Given the description of an element on the screen output the (x, y) to click on. 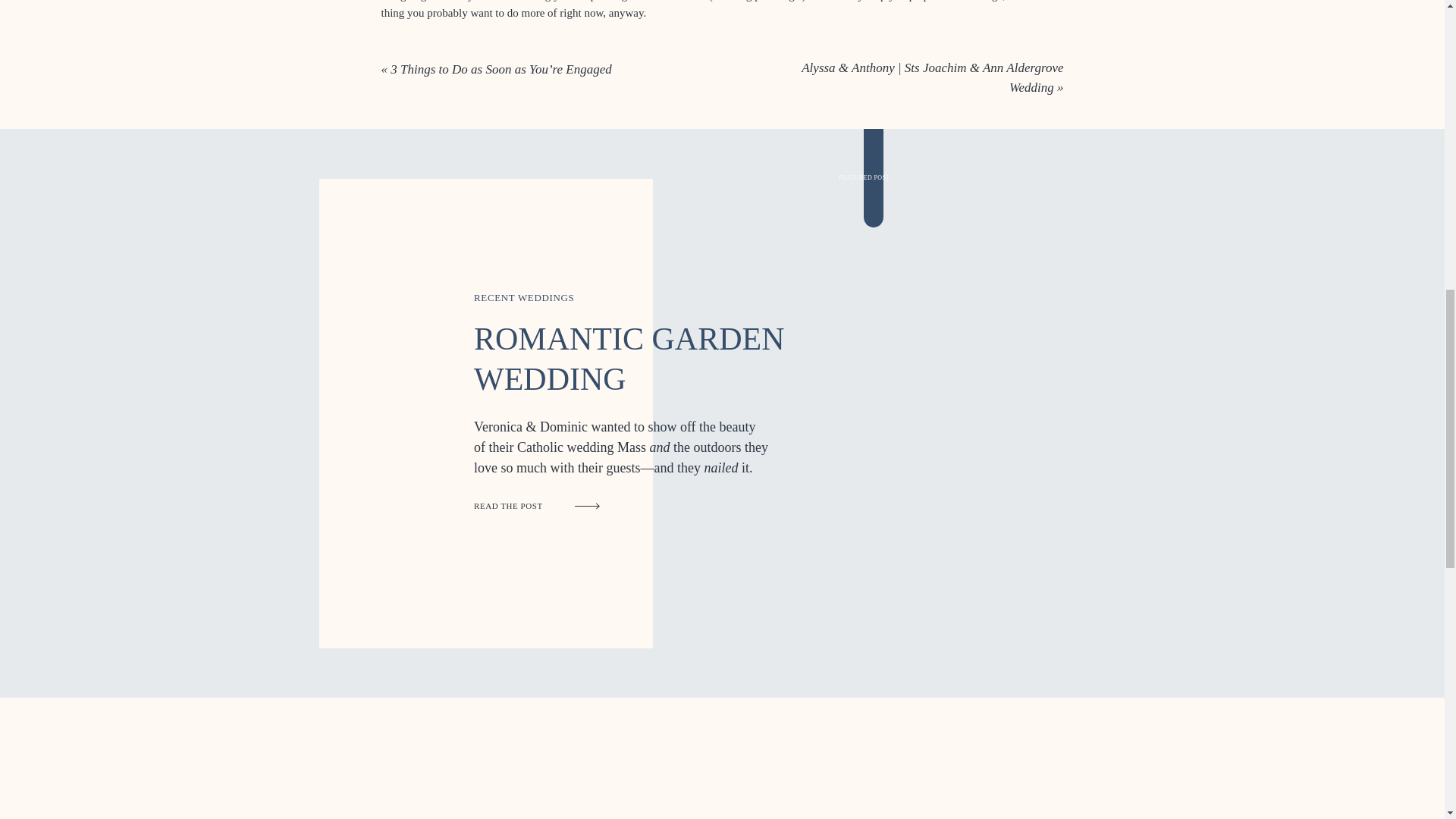
Get The Catholic Wedding Kit here! (468, 425)
READ THE POST (526, 505)
